Given the description of an element on the screen output the (x, y) to click on. 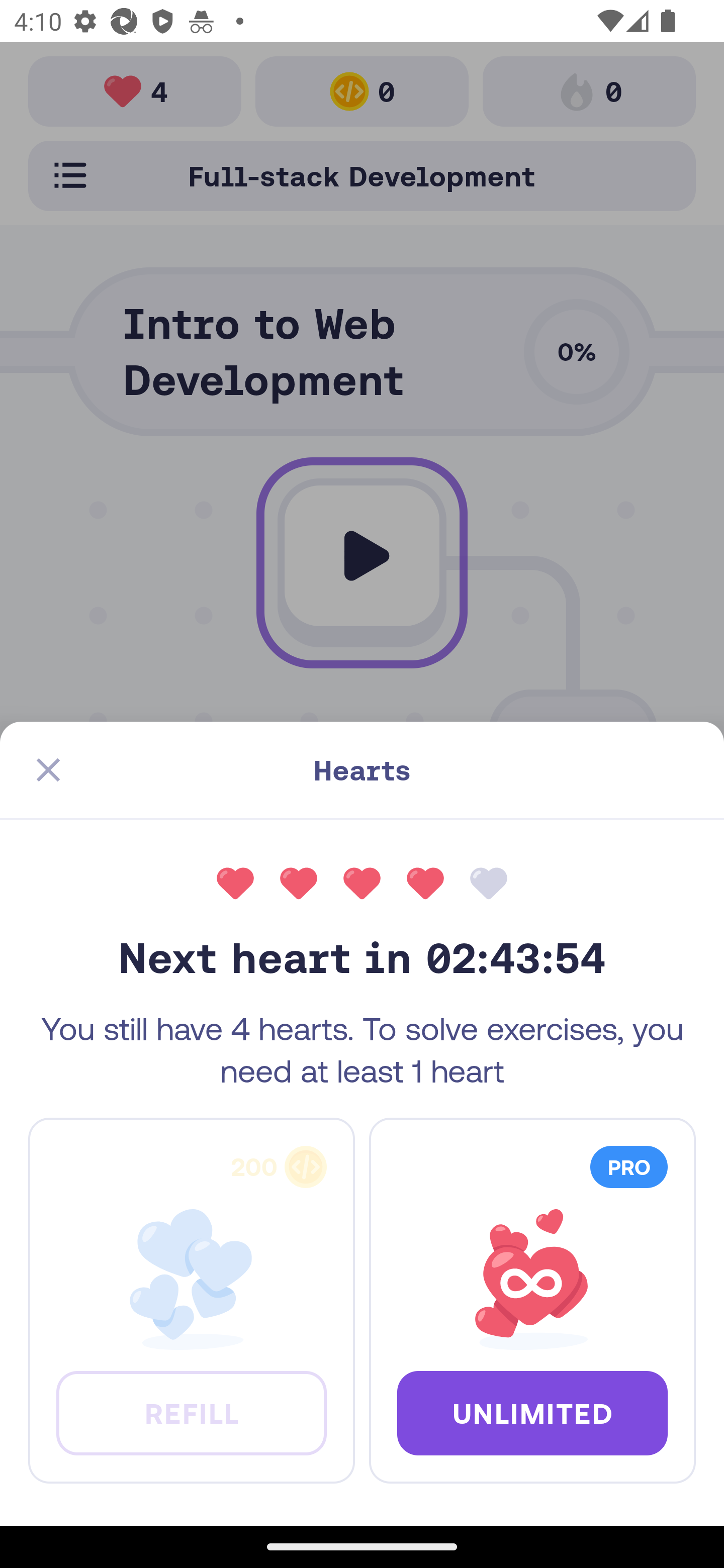
Close (47, 769)
REFILL (191, 1412)
UNLIMITED (532, 1412)
